Given the description of an element on the screen output the (x, y) to click on. 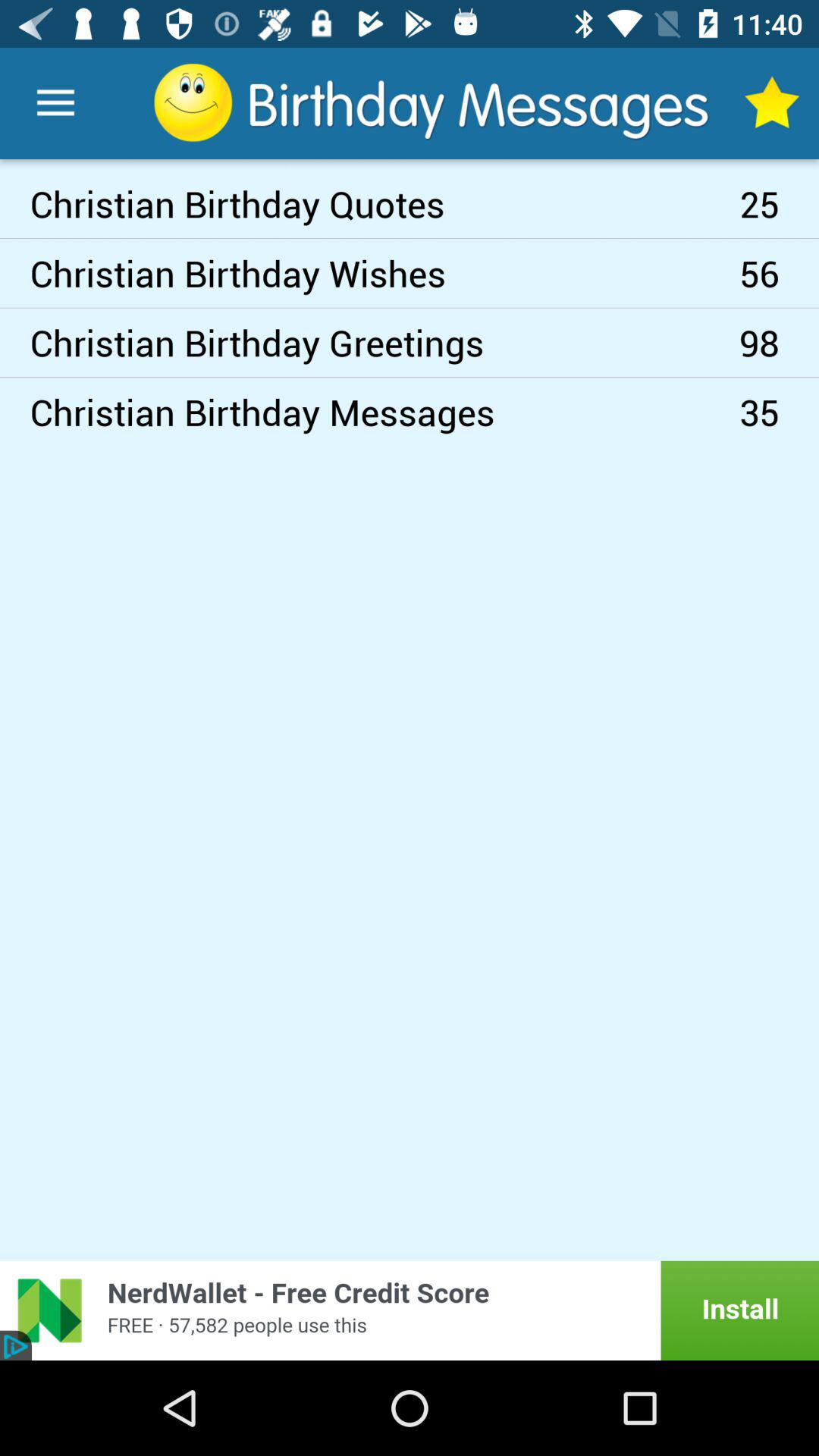
press 35 item (779, 411)
